Given the description of an element on the screen output the (x, y) to click on. 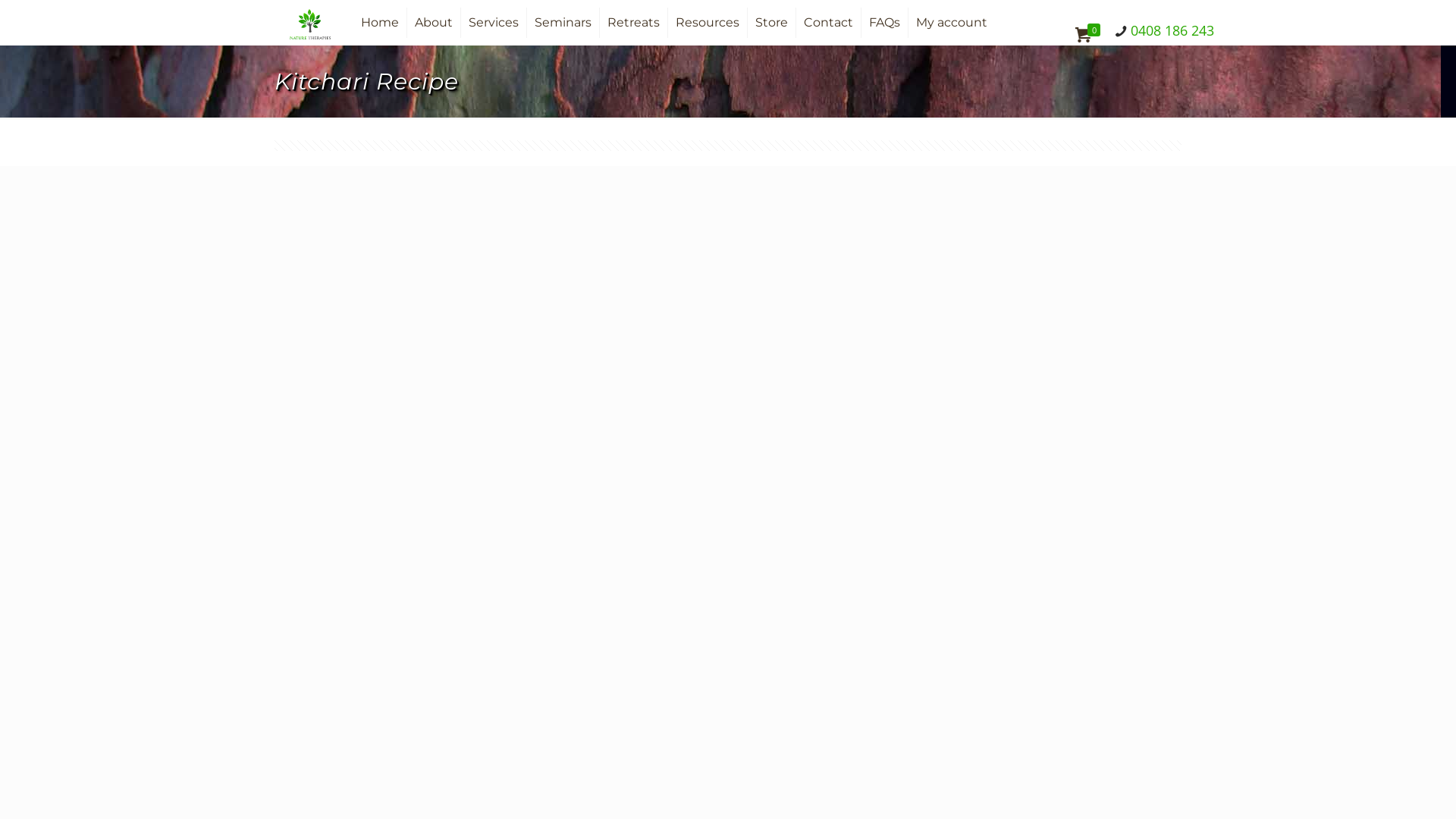
Store Element type: text (771, 22)
About Element type: text (434, 22)
Seminars Element type: text (563, 22)
FAQs Element type: text (884, 22)
My account Element type: text (951, 22)
Nature Therapies Element type: hover (309, 22)
Contact Element type: text (828, 22)
Retreats Element type: text (633, 22)
0408 186 243 Element type: text (1172, 30)
Services Element type: text (494, 22)
0 Element type: text (1089, 34)
Resources Element type: text (707, 22)
Home Element type: text (380, 22)
